Given the description of an element on the screen output the (x, y) to click on. 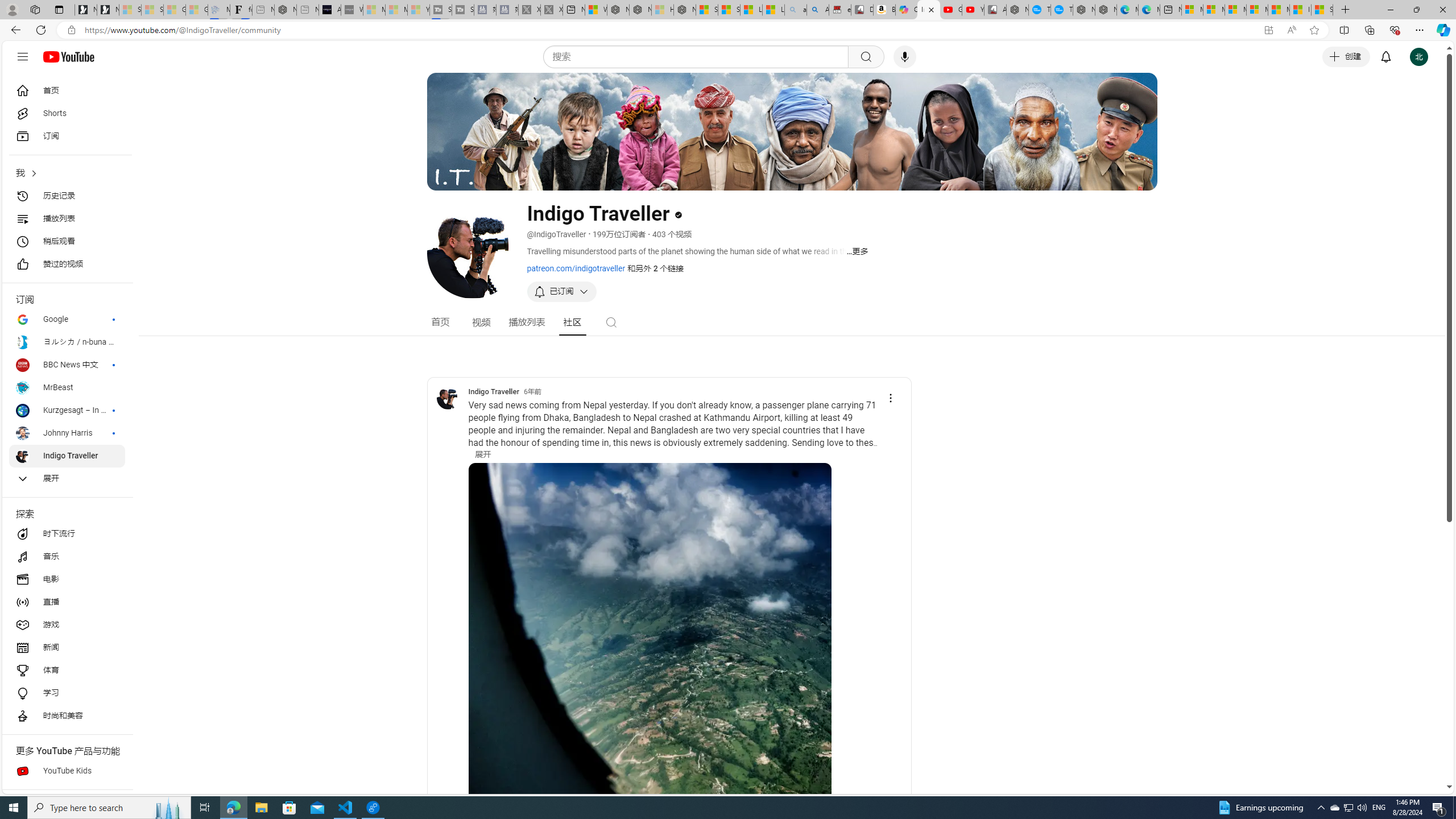
amazon - Search - Sleeping (795, 9)
App available. Install YouTube (1268, 29)
